Given the description of an element on the screen output the (x, y) to click on. 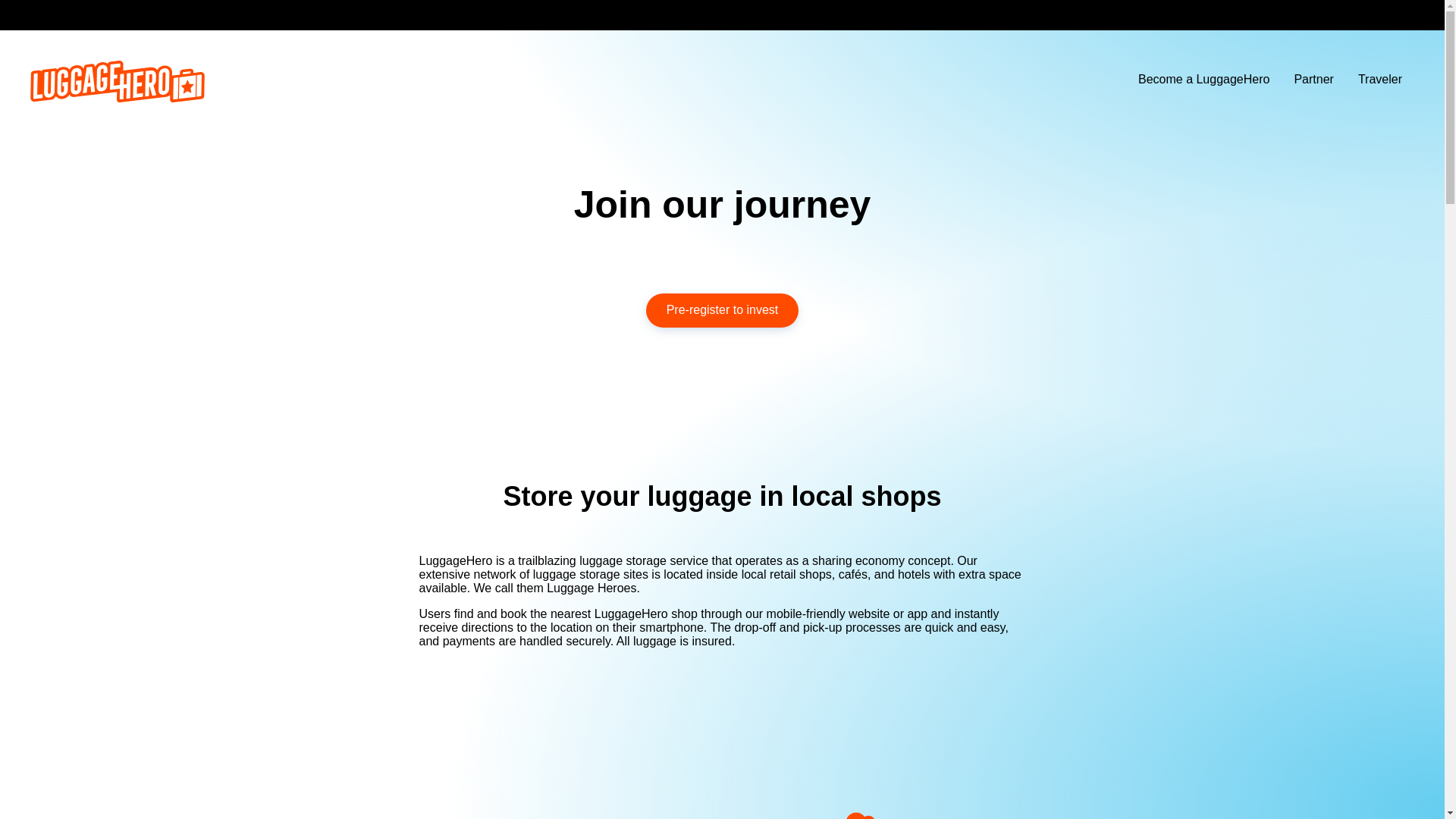
Traveler (1379, 79)
Pre-register to invest (722, 310)
LuggageHero (117, 97)
Partner (1313, 79)
Become a LuggageHero (1203, 79)
